Given the description of an element on the screen output the (x, y) to click on. 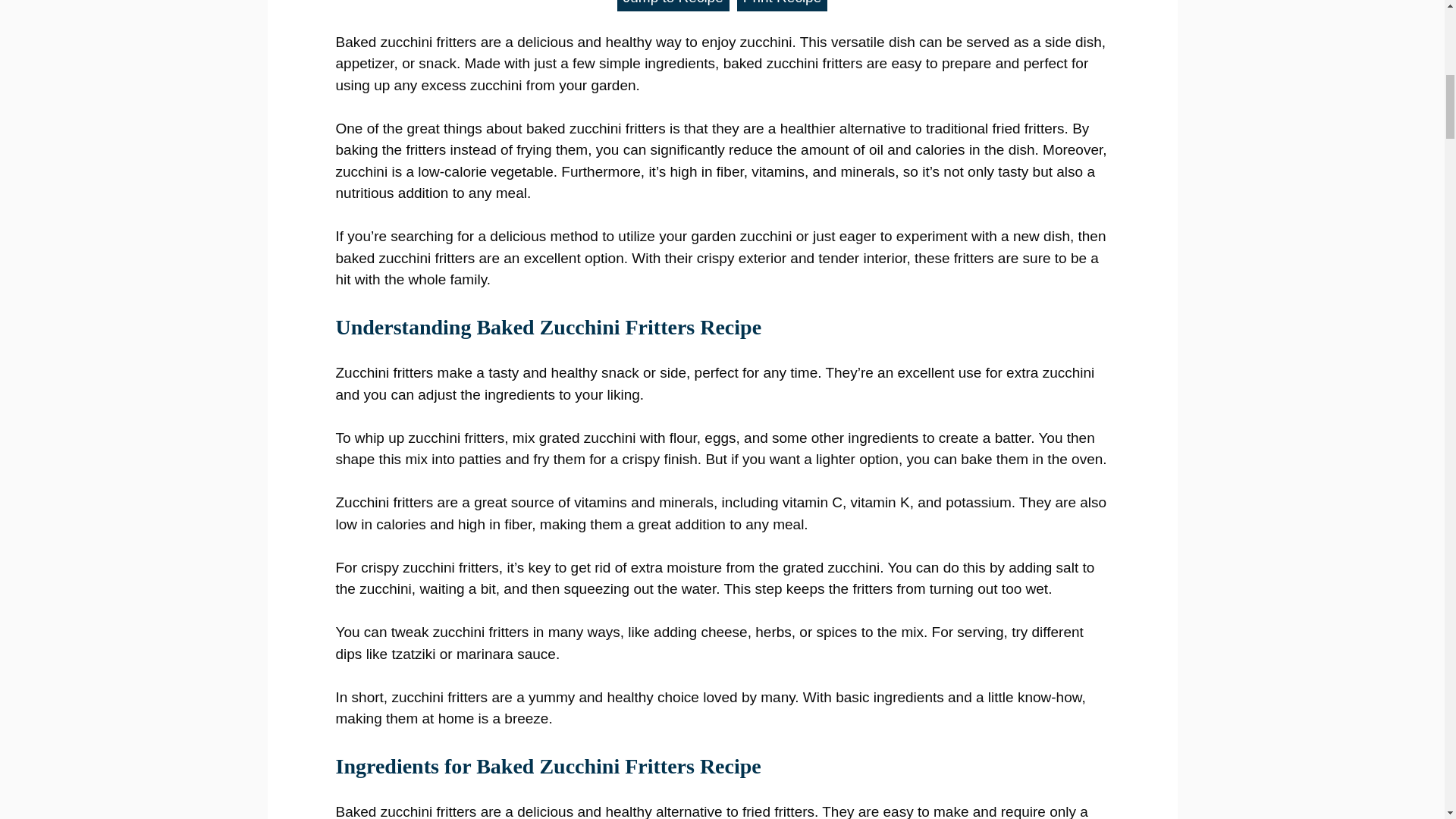
tzatziki (413, 653)
Jump to Recipe (673, 5)
Print Recipe (782, 5)
